Given the description of an element on the screen output the (x, y) to click on. 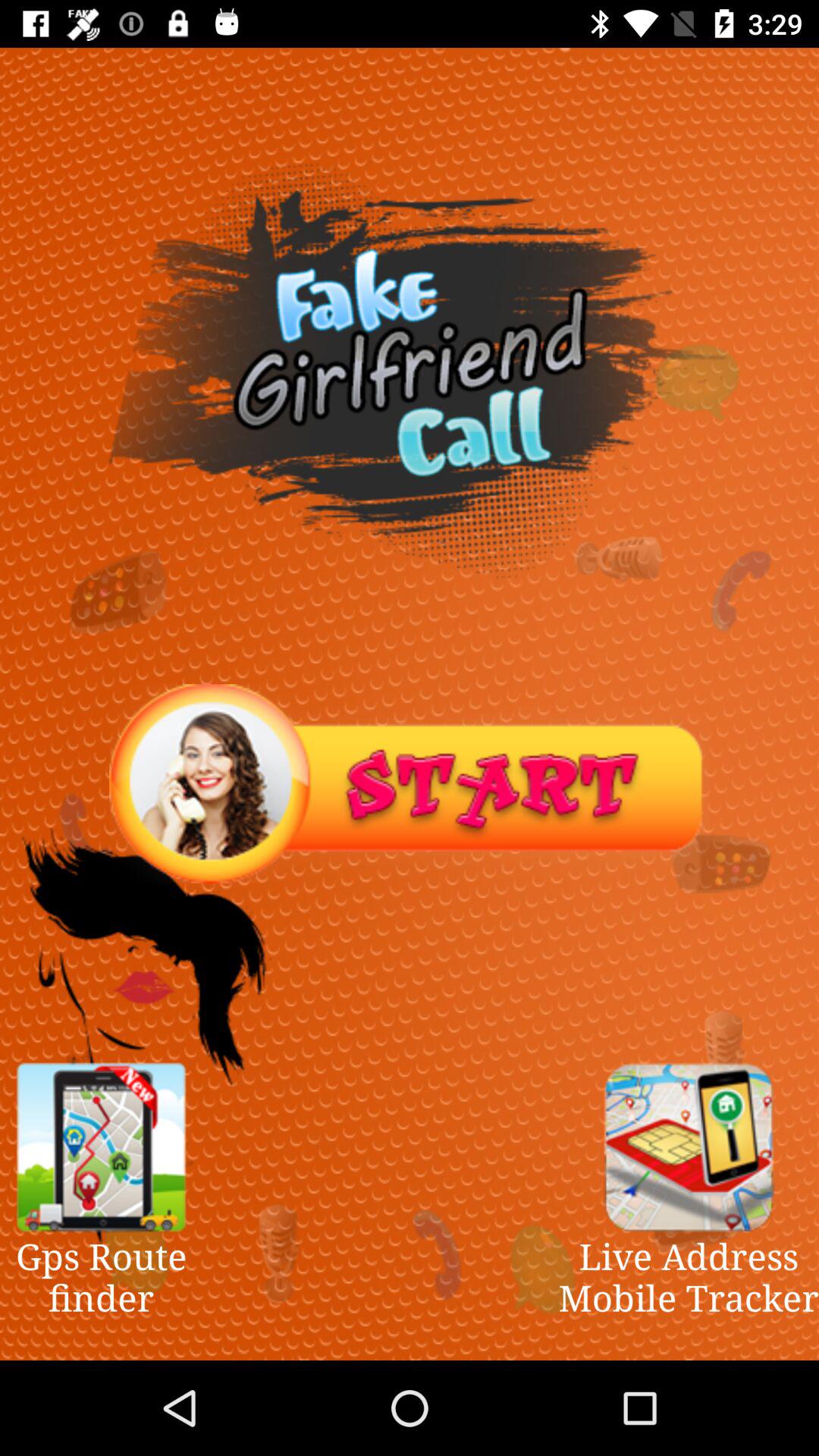
open live address mobile tracker (688, 1146)
